Given the description of an element on the screen output the (x, y) to click on. 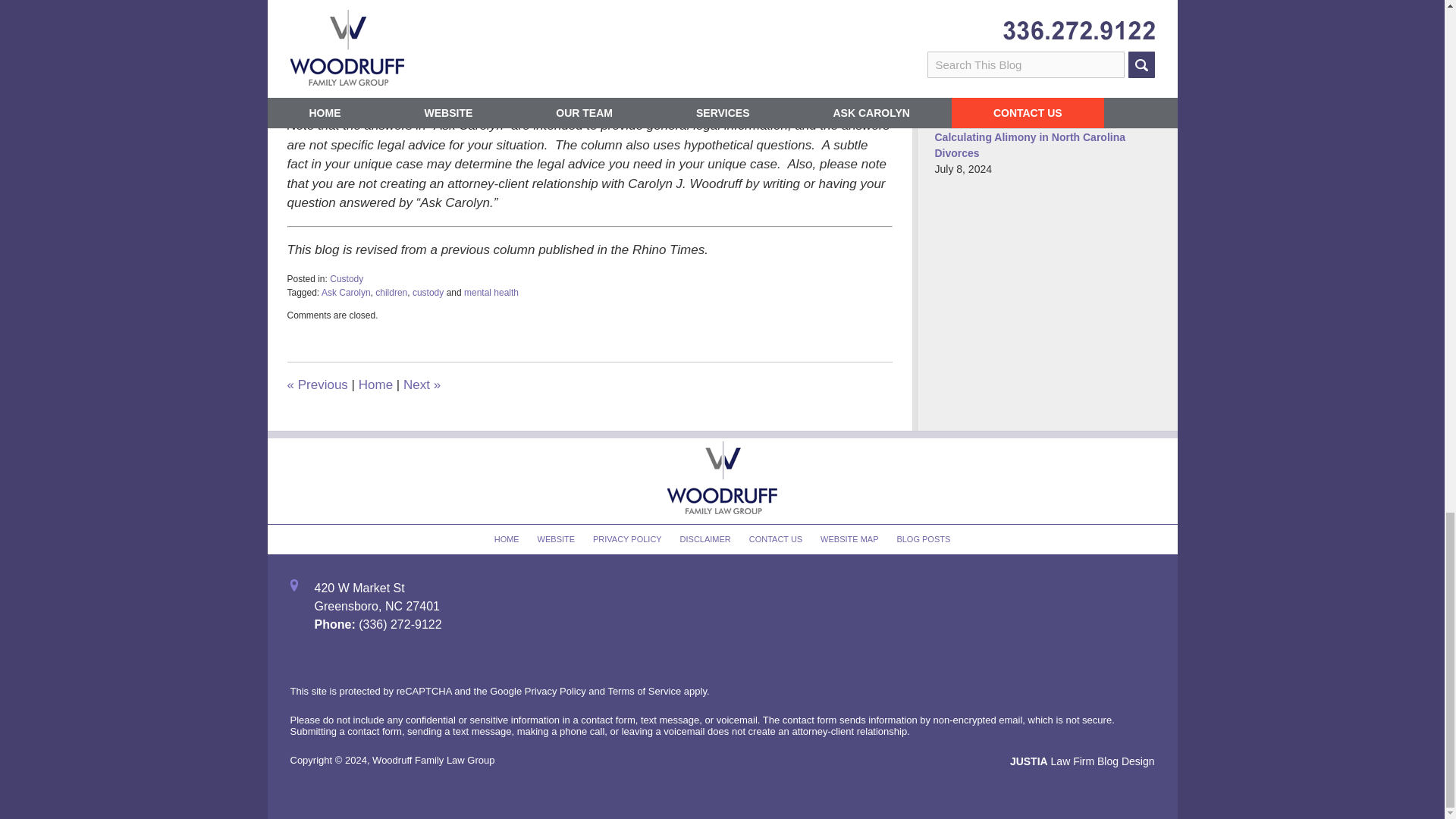
Custody (346, 278)
Ask Carolyn: How to Get a Deadbeat Husband Out of the House (422, 384)
children (391, 292)
View all posts tagged with Ask Carolyn (346, 292)
Ask Carolyn (647, 54)
View all posts tagged with mental health (491, 292)
Home (375, 384)
Facebook (448, 73)
Ask Carolyn (346, 292)
View all posts tagged with custody (428, 292)
custody (428, 292)
mental health (491, 292)
View all posts in Custody (346, 278)
Twitter (385, 73)
